Given the description of an element on the screen output the (x, y) to click on. 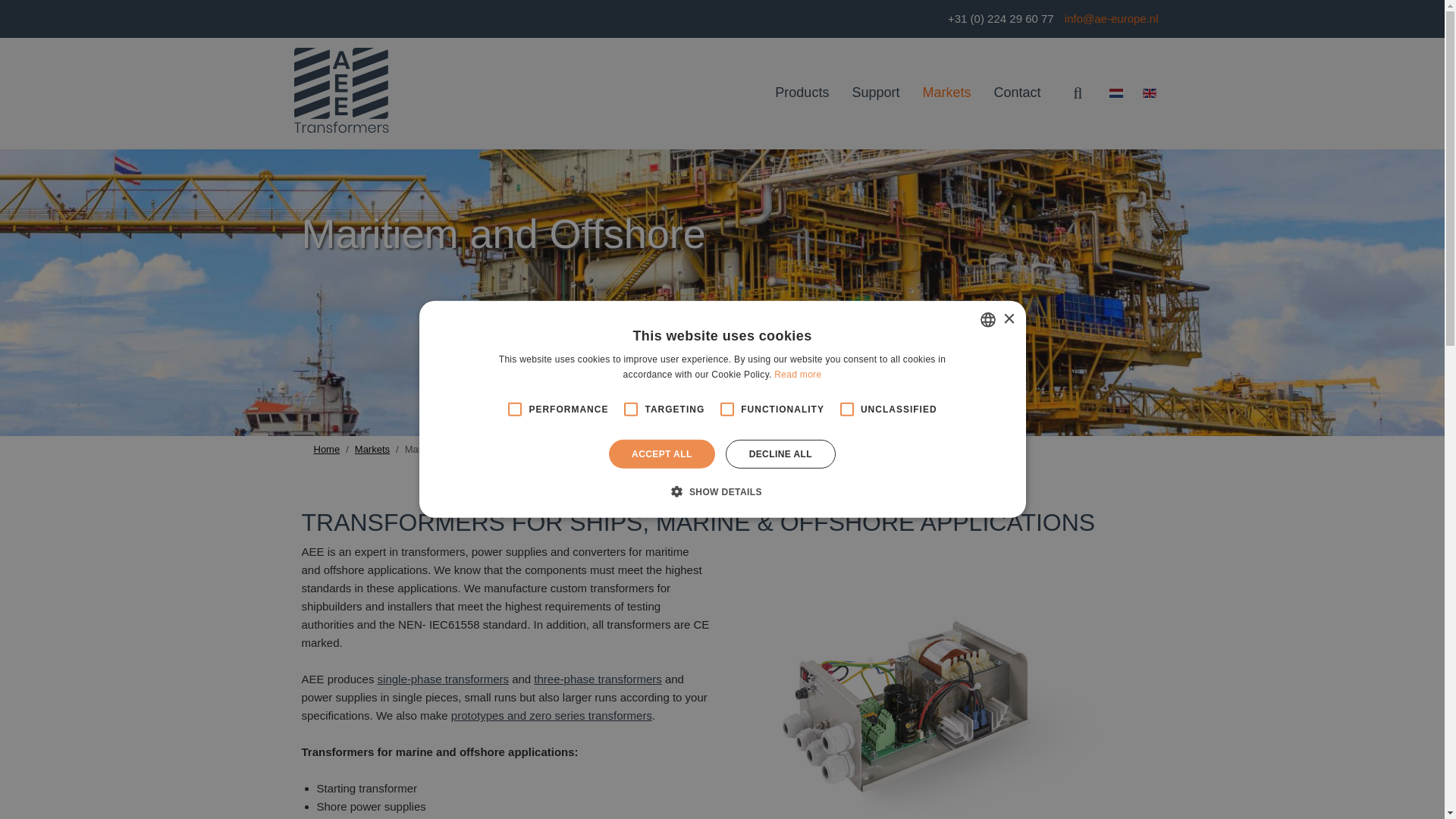
Markets (946, 92)
prototypes and zero series transformers (551, 715)
English (1148, 92)
single-phase transformers (442, 678)
Markets (372, 449)
Contact (1016, 92)
three-phase transformers (597, 678)
prototypes and zero series transformers (551, 715)
Products (801, 92)
Home (327, 449)
single-phase transformers (442, 678)
Support (875, 92)
Nederlands (1115, 92)
Read more (797, 374)
three-phase transformers (597, 678)
